Given the description of an element on the screen output the (x, y) to click on. 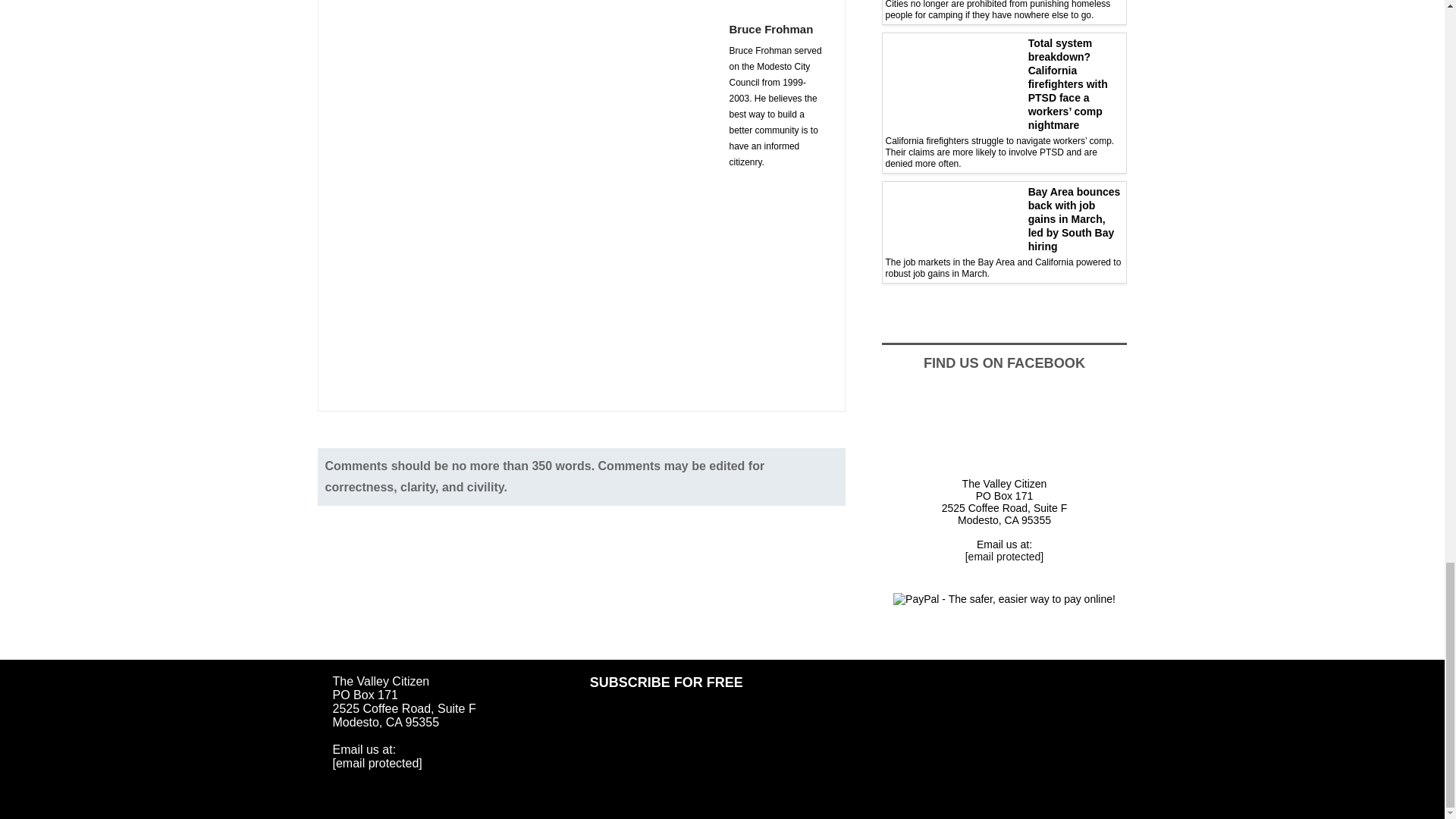
Bruce Frohman (778, 28)
Find us on Facebook (1005, 428)
